Given the description of an element on the screen output the (x, y) to click on. 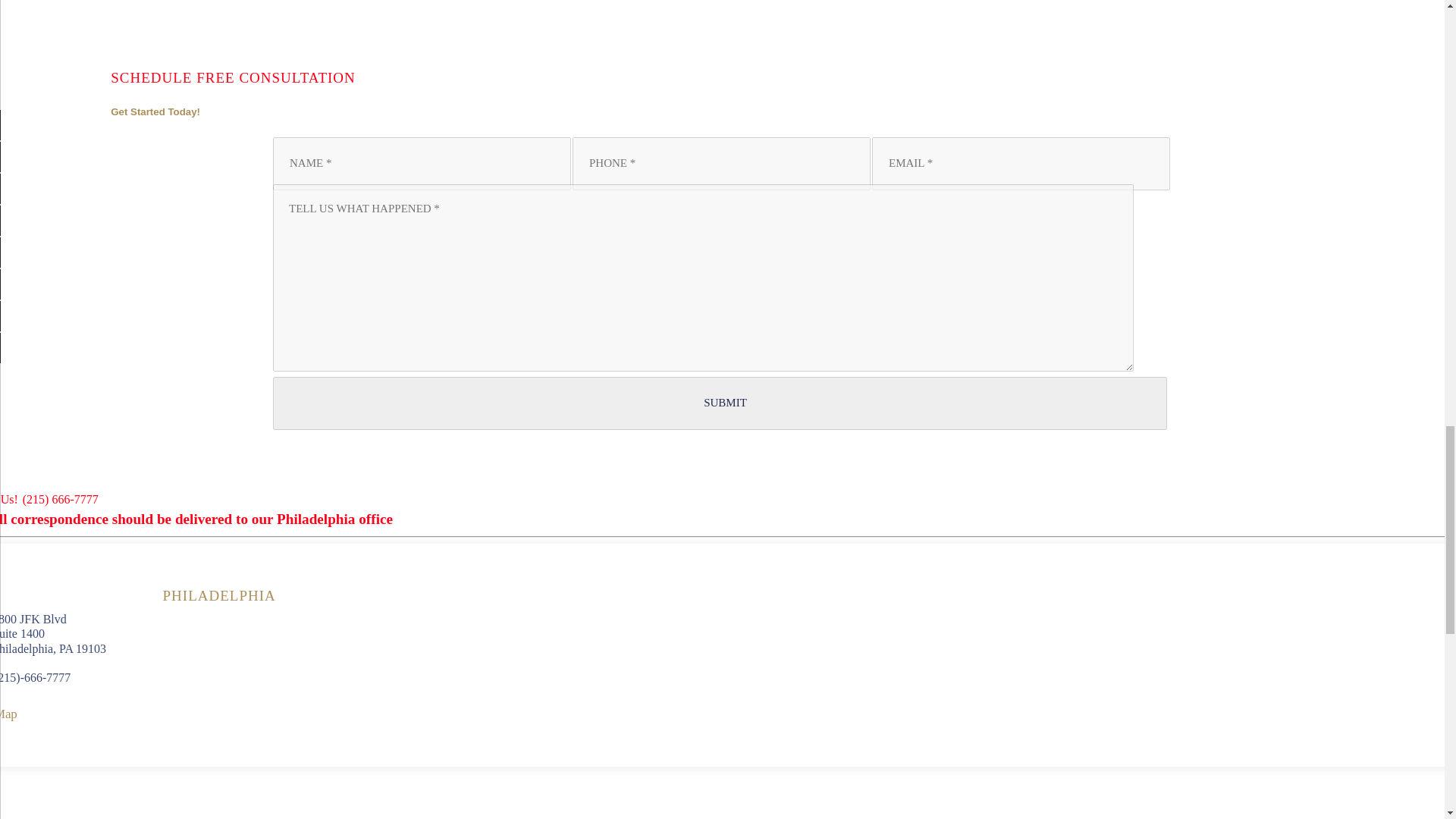
Submit (720, 402)
